Given the description of an element on the screen output the (x, y) to click on. 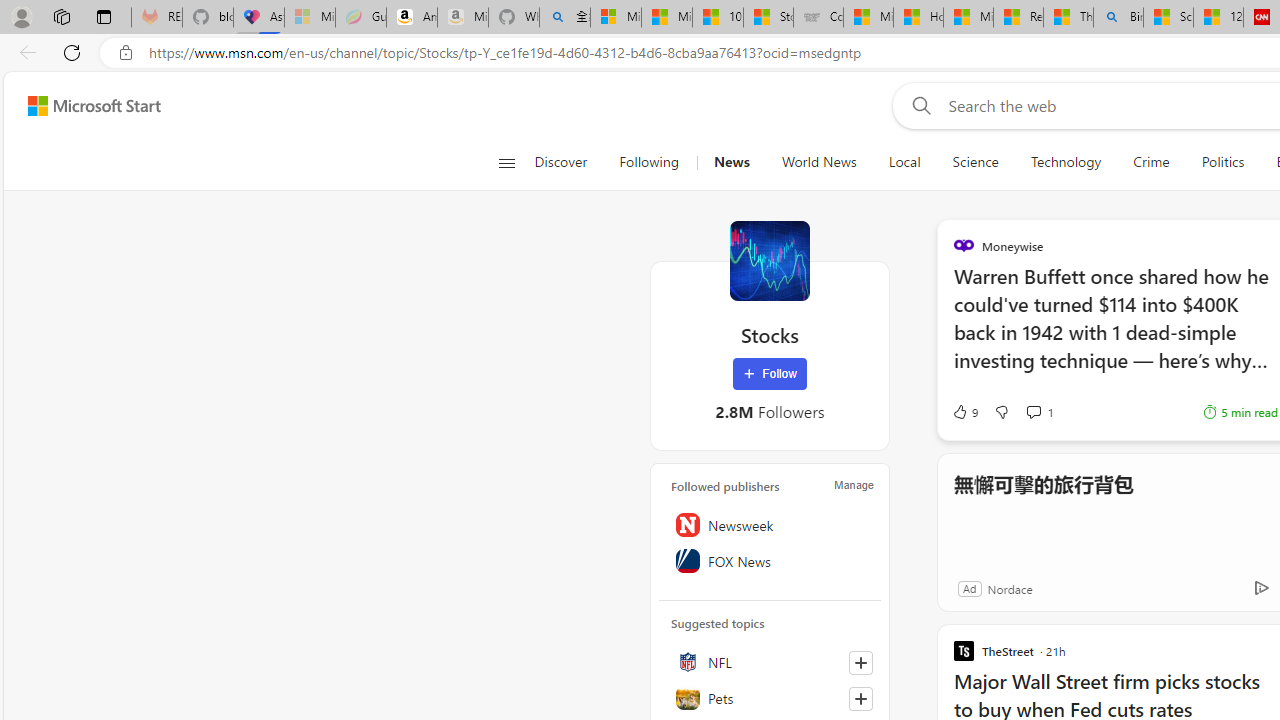
Follow this topic (860, 698)
9 Like (964, 412)
Follow this topic (860, 698)
Discover (568, 162)
Combat Siege (818, 17)
Skip to footer (82, 105)
Science (975, 162)
Stocks - MSN (768, 17)
How I Got Rid of Microsoft Edge's Unnecessary Features (918, 17)
Skip to content (86, 105)
Asthma Inhalers: Names and Types (259, 17)
